Given the description of an element on the screen output the (x, y) to click on. 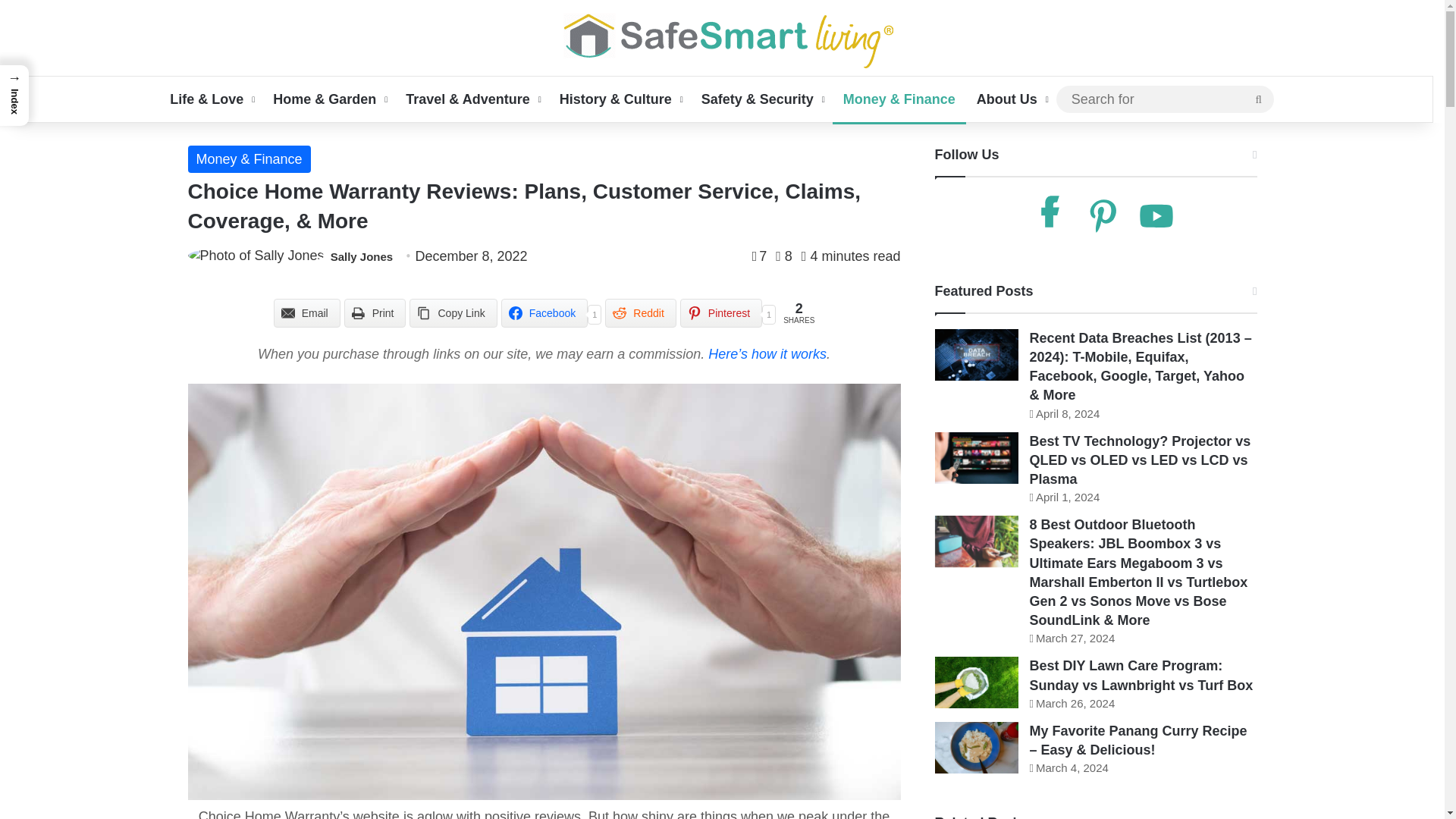
Share on Reddit (640, 312)
Print (374, 312)
Share on Pinterest (720, 312)
Copy Link (452, 312)
Search for (1258, 99)
Safe Smart Living (722, 37)
Share on Facebook (544, 312)
About Us (1011, 99)
Sally Jones (361, 256)
Share on Print (374, 312)
